Given the description of an element on the screen output the (x, y) to click on. 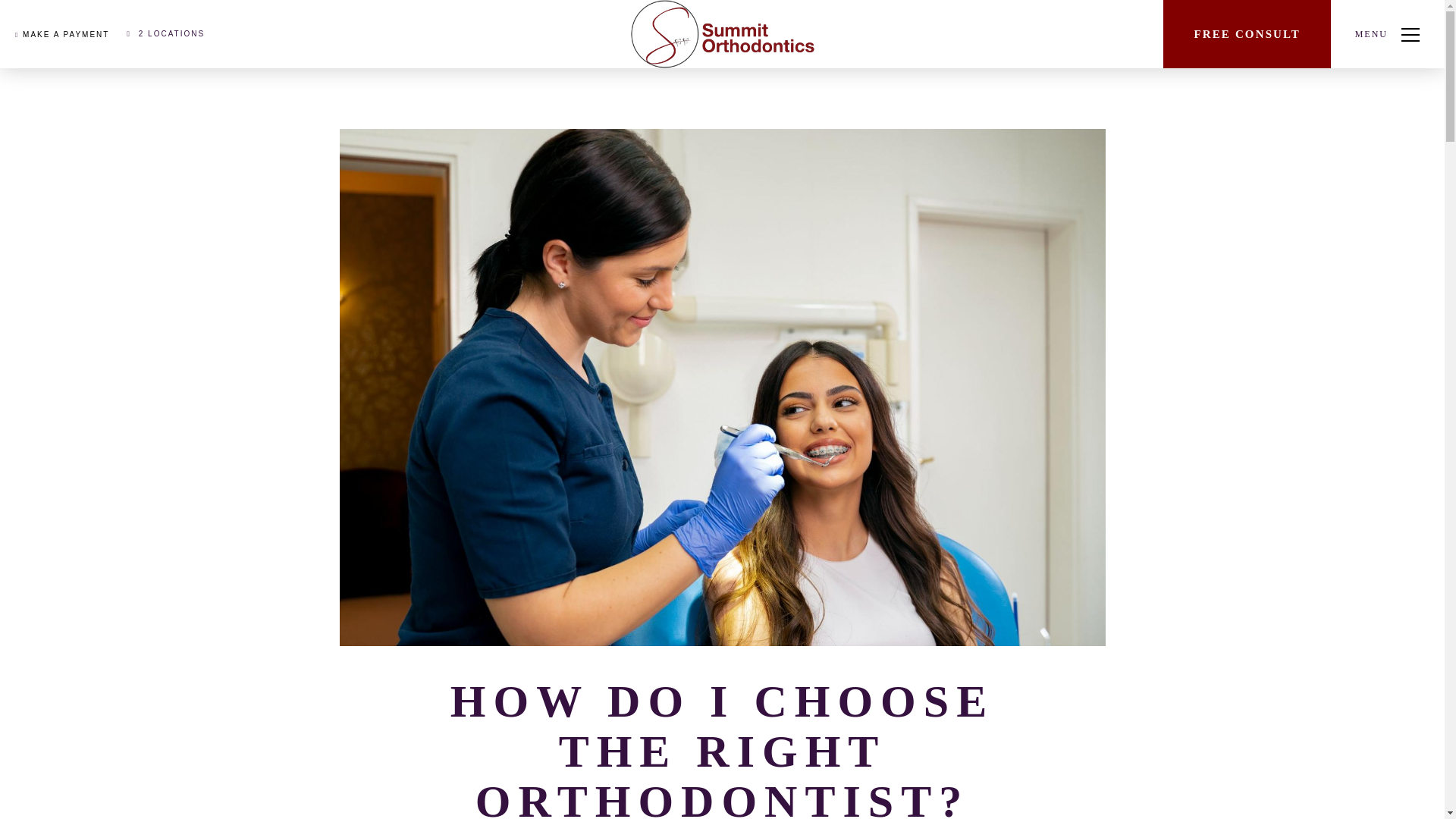
FREE CONSULT (1246, 33)
MAKE A PAYMENT (61, 34)
